Given the description of an element on the screen output the (x, y) to click on. 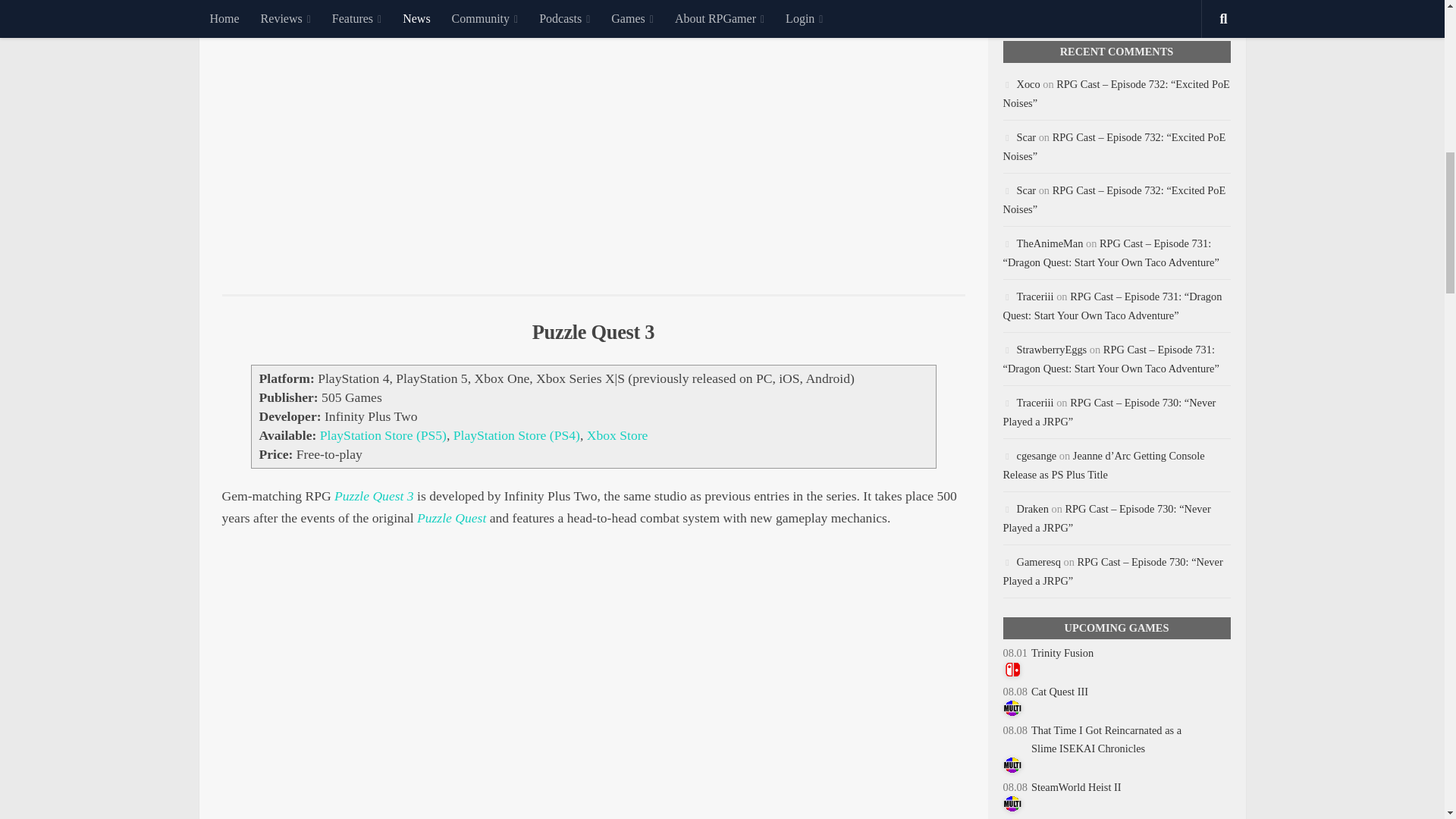
YouTube video player (592, 687)
YouTube video player (592, 135)
